Given the description of an element on the screen output the (x, y) to click on. 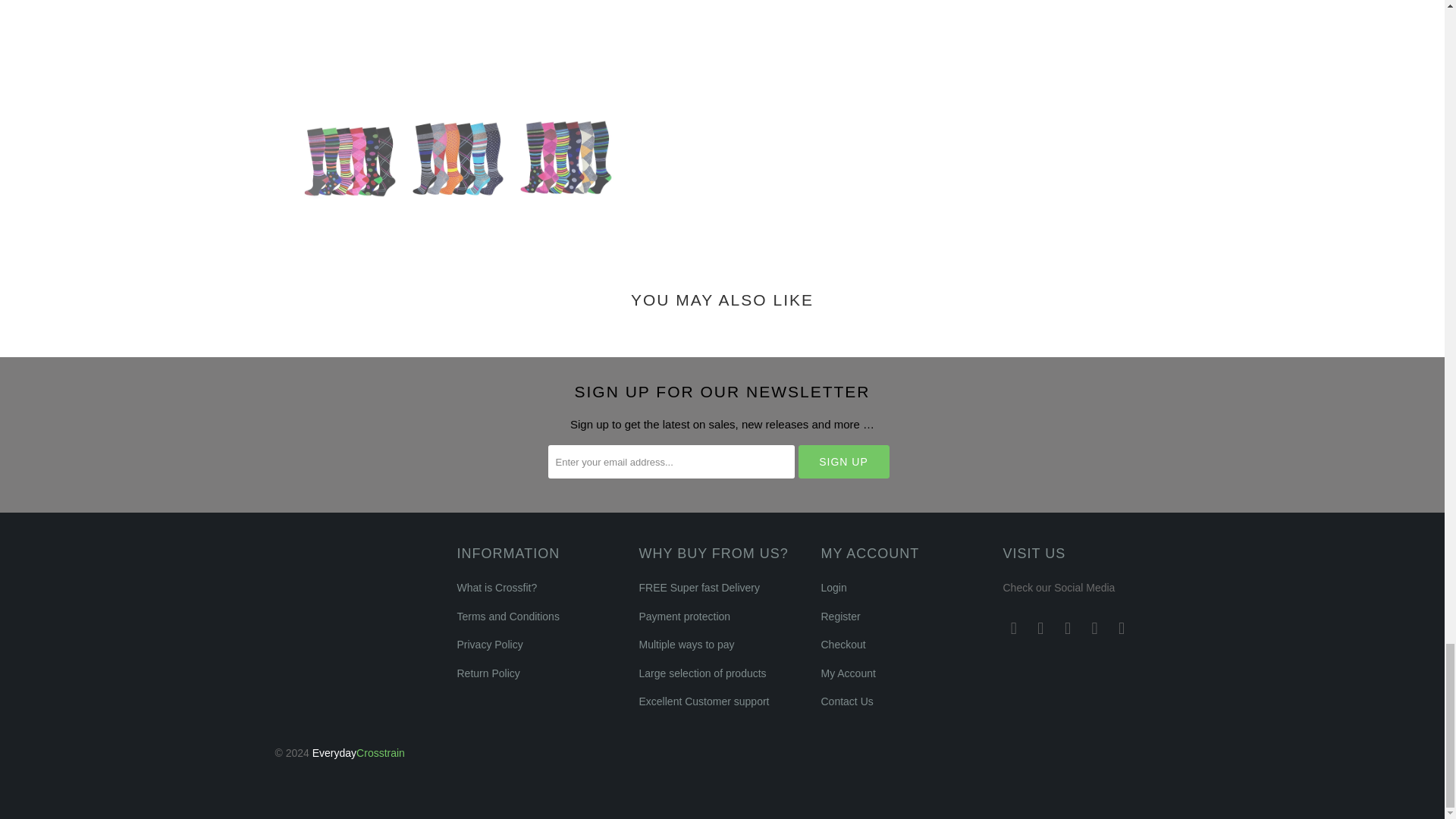
Everyday Crosstrain on Facebook (1040, 628)
Everyday Crosstrain on Twitter (1014, 628)
Everyday Crosstrain on Pinterest (1068, 628)
Everyday Crosstrain on Instagram (1094, 628)
Email Everyday Crosstrain (1122, 628)
Sign Up (842, 461)
